Given the description of an element on the screen output the (x, y) to click on. 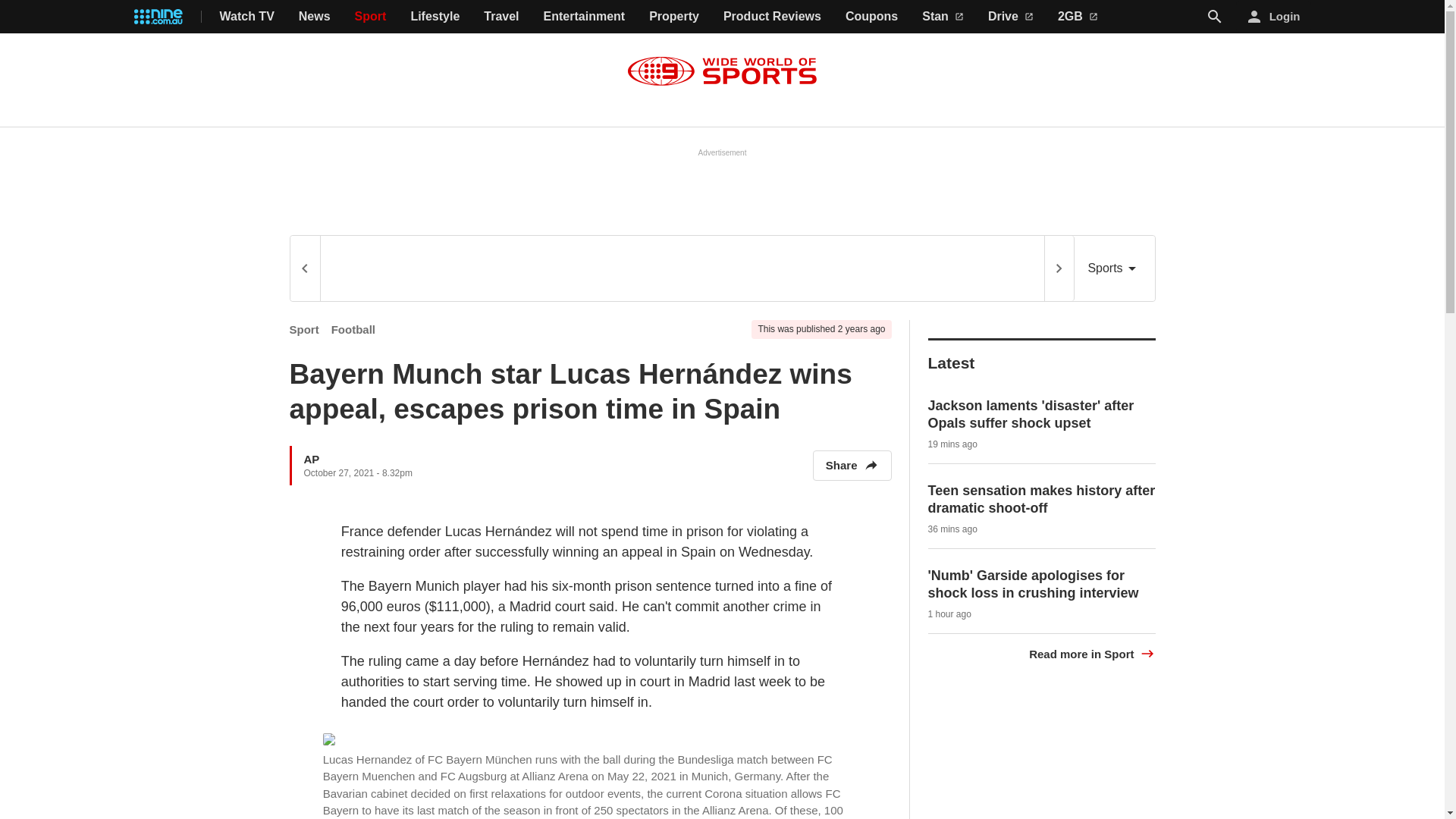
Product Reviews (772, 16)
Stan (942, 16)
Travel (500, 16)
Lifestyle (435, 16)
Sport (303, 328)
Football (353, 328)
Property (673, 16)
Search (1214, 16)
Sports (1114, 268)
2GB (1077, 16)
Watch TV (247, 16)
Coupons (871, 16)
Read more in Sport (1091, 653)
Teen sensation makes history after dramatic shoot-off (1042, 499)
